Given the description of an element on the screen output the (x, y) to click on. 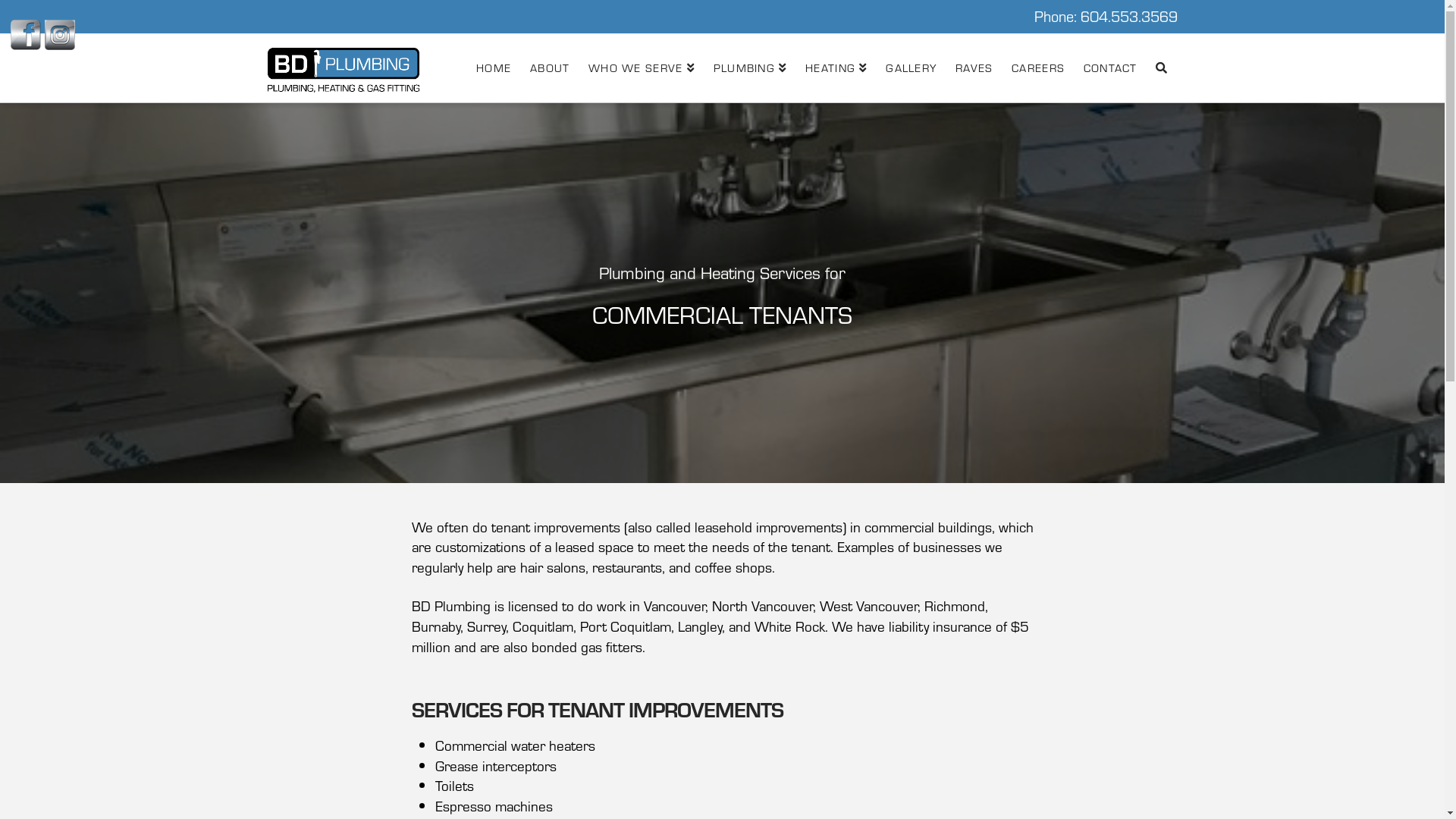
RAVES Element type: text (973, 68)
Facebook Element type: hover (25, 34)
GALLERY Element type: text (910, 68)
HOME Element type: text (493, 68)
CONTACT Element type: text (1109, 68)
HEATING Element type: text (835, 68)
WHO WE SERVE Element type: text (640, 68)
CAREERS Element type: text (1037, 68)
Instagram Element type: hover (59, 34)
ABOUT Element type: text (549, 68)
PLUMBING Element type: text (749, 68)
